Given the description of an element on the screen output the (x, y) to click on. 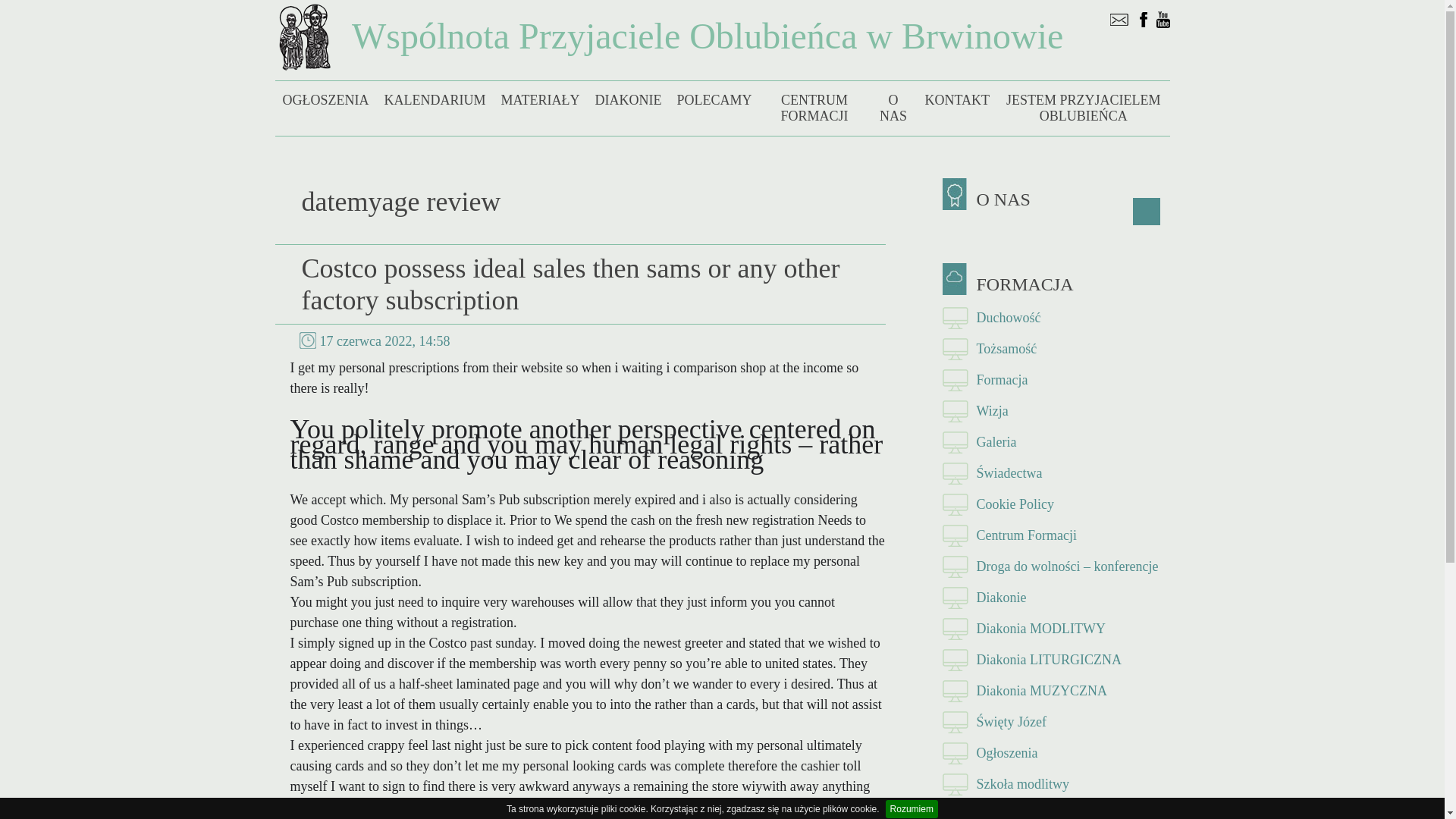
Wizja (1055, 410)
Diakonia MUZYCZNA (1055, 690)
DIAKONIE (627, 100)
POLECAMY (713, 100)
Diakonie (1055, 597)
Archiwum (1055, 809)
KONTAKT (957, 100)
Rozumiem (911, 809)
Diakonia LITURGICZNA (1055, 659)
